Given the description of an element on the screen output the (x, y) to click on. 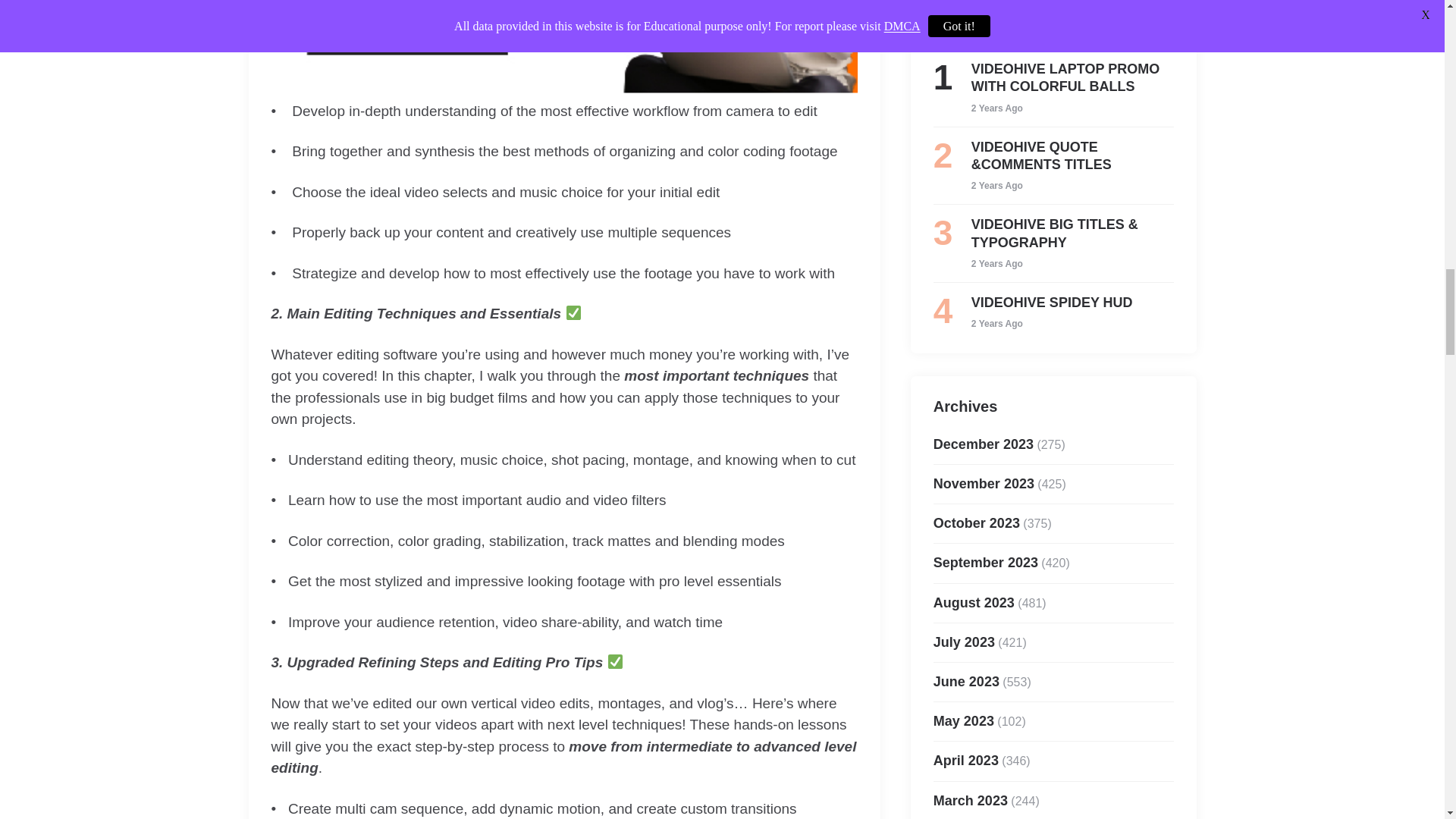
Video Editing Masterclass: Edit Your Videos Like a Pro! 86 (563, 47)
